Given the description of an element on the screen output the (x, y) to click on. 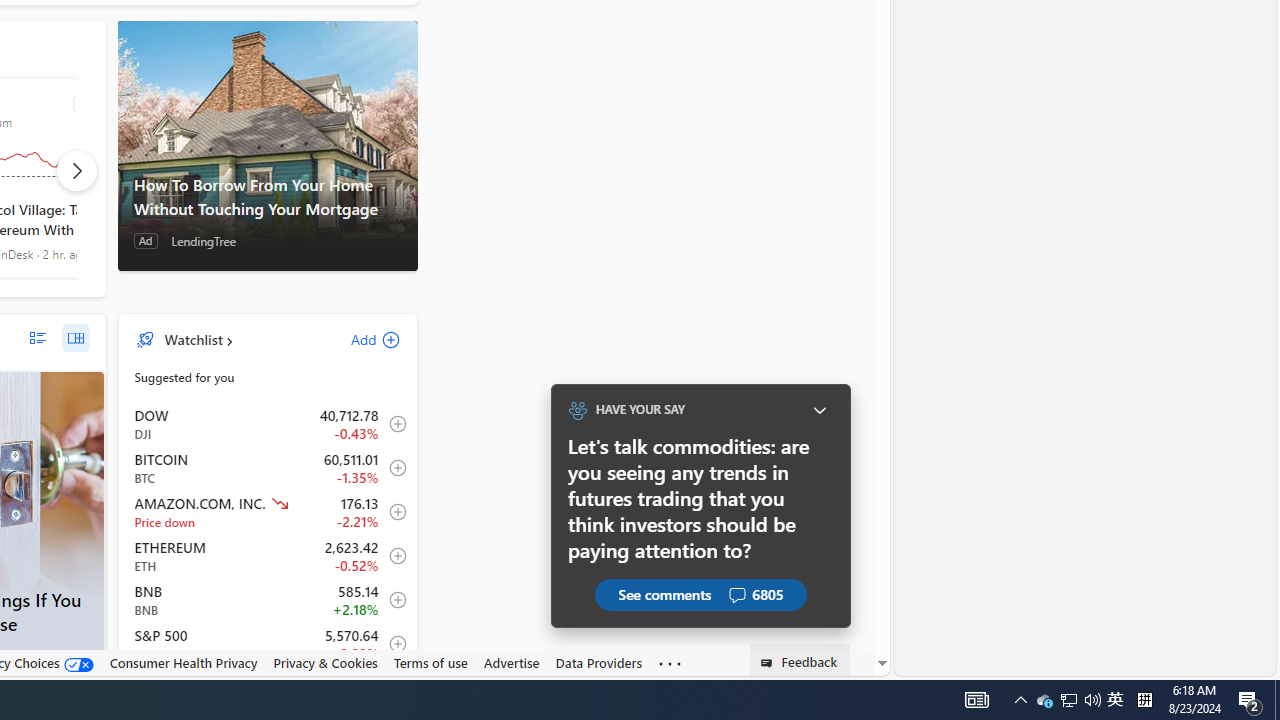
grid layout (75, 338)
Terms of use (430, 663)
AMZN AMAZON.COM, INC. decrease 176.13 -3.98 -2.21% item2 (267, 512)
BNB BNB increase 585.14 +12.76 +2.18% item4 (267, 600)
INX S&P 500 decrease 5,570.64 -50.21 -0.89% item5 (267, 644)
BTC Bitcoin decrease 60,511.01 -814.48 -1.35% item1 (267, 467)
list layout (37, 338)
ETH Ethereum decrease 2,623.42 -13.69 -0.52% item3 (267, 556)
Feedback (799, 659)
Terms of use (430, 662)
See more (669, 664)
Watchlist (192, 339)
Data Providers (598, 662)
Add to Watchlist (392, 643)
